Given the description of an element on the screen output the (x, y) to click on. 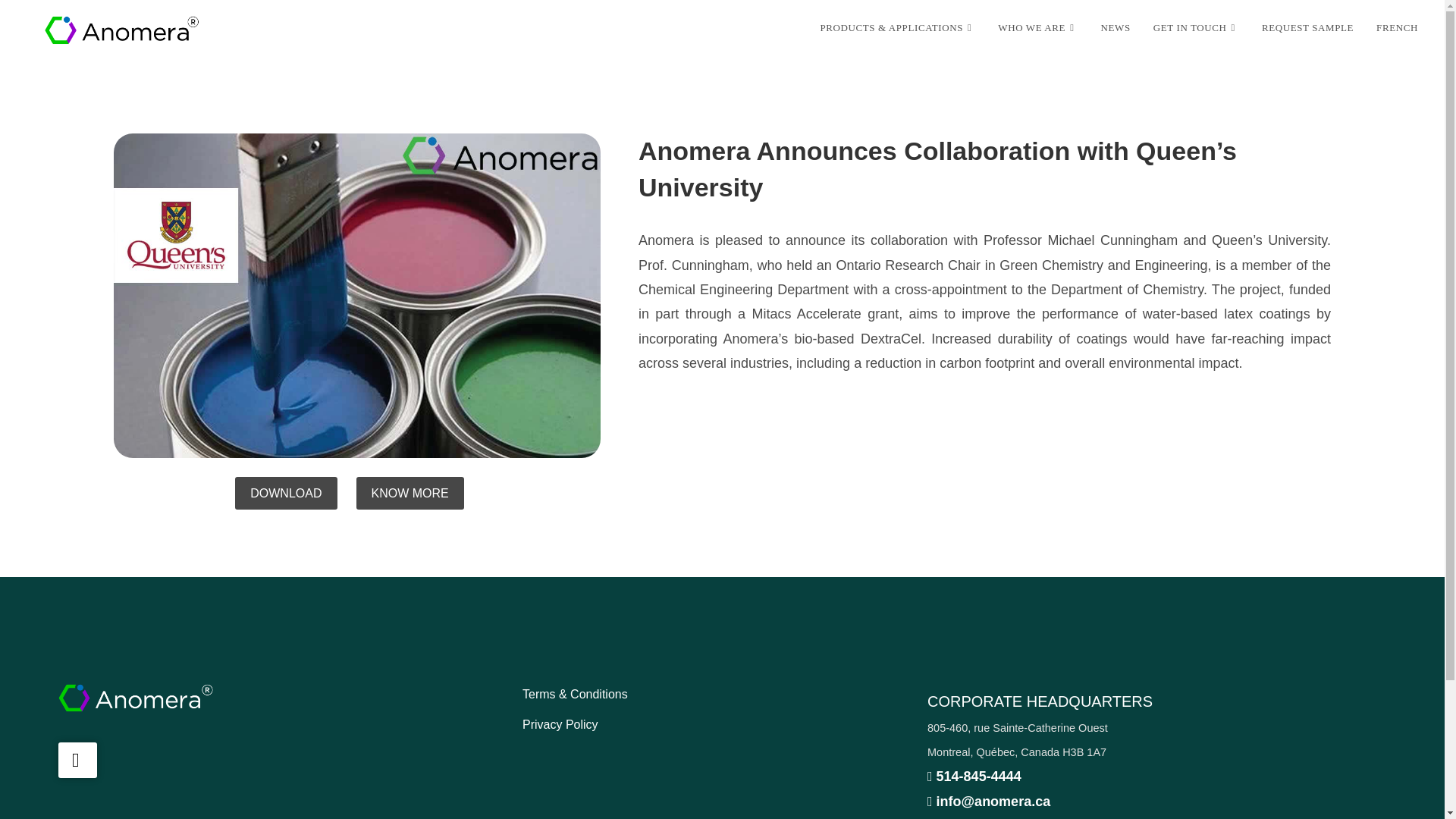
514-845-4444 (974, 776)
KNOW MORE (410, 492)
REQUEST SAMPLE (1307, 28)
French (1397, 28)
WHO WE ARE (1038, 28)
GET IN TOUCH (1195, 28)
DOWNLOAD (285, 492)
Privacy Policy (560, 724)
FRENCH (1397, 28)
NEWS (1115, 28)
